Given the description of an element on the screen output the (x, y) to click on. 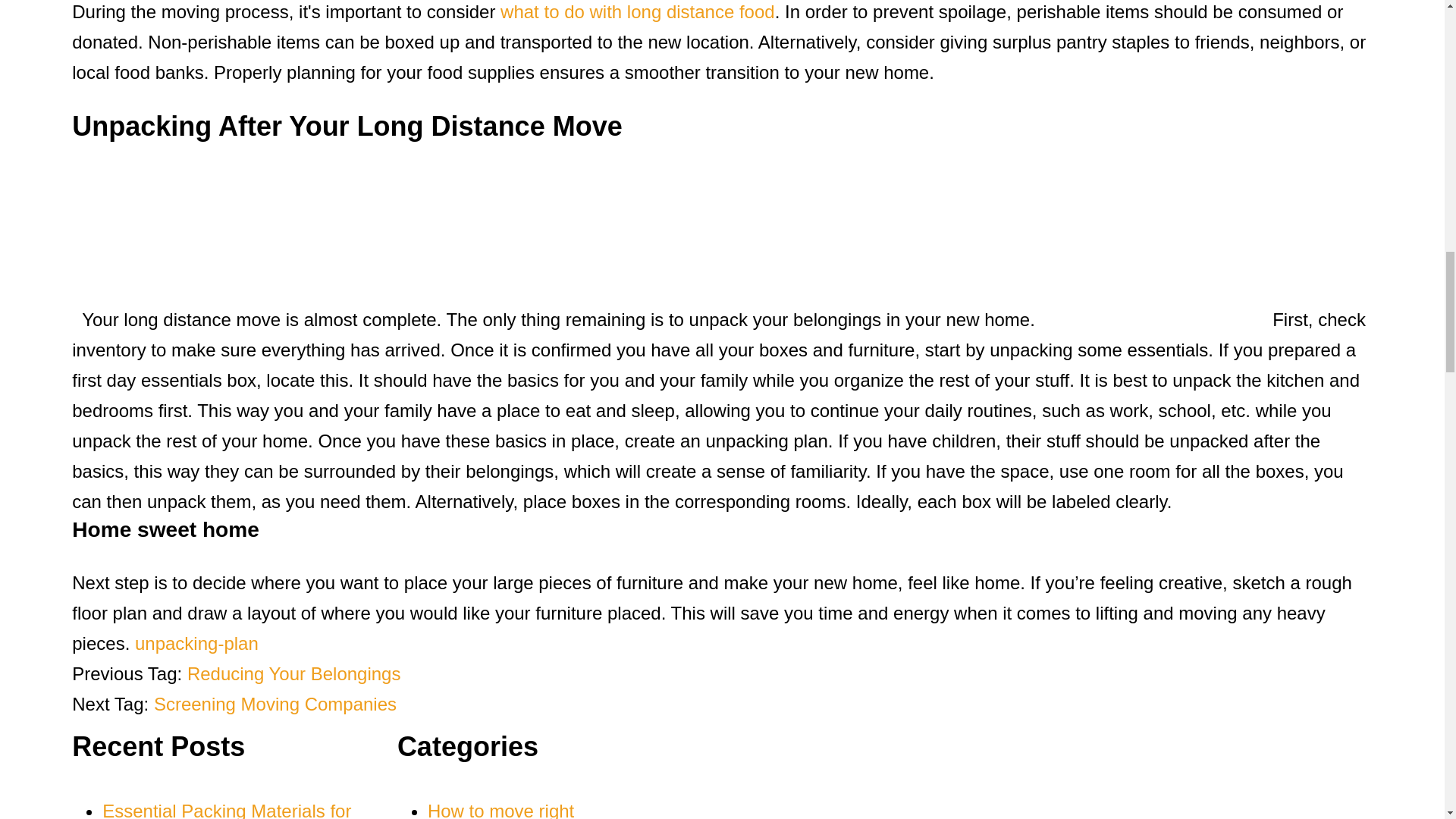
Essential Packing Materials for Long-Distance Moves (225, 809)
unpacking-plan (197, 643)
Reducing Your Belongings (294, 673)
Unpacking Plan (197, 643)
what to do with long distance food (637, 11)
Screening Moving Companies (275, 703)
